Given the description of an element on the screen output the (x, y) to click on. 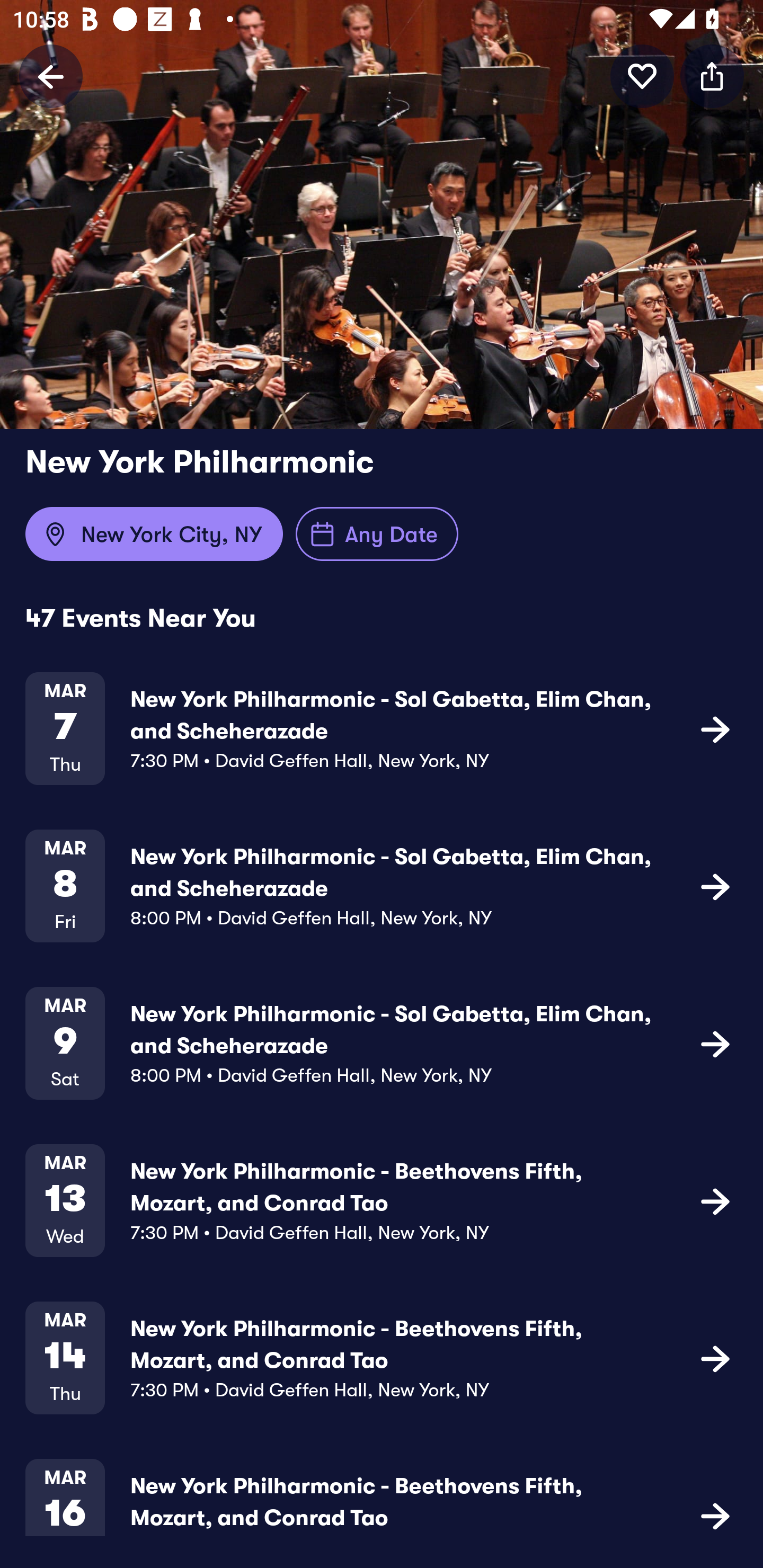
Back (50, 75)
icon button (641, 75)
icon button (711, 75)
New York City, NY (153, 533)
Any Date (377, 533)
icon button (714, 729)
icon button (714, 885)
icon button (714, 1043)
icon button (714, 1201)
icon button (714, 1357)
icon button (714, 1514)
